Given the description of an element on the screen output the (x, y) to click on. 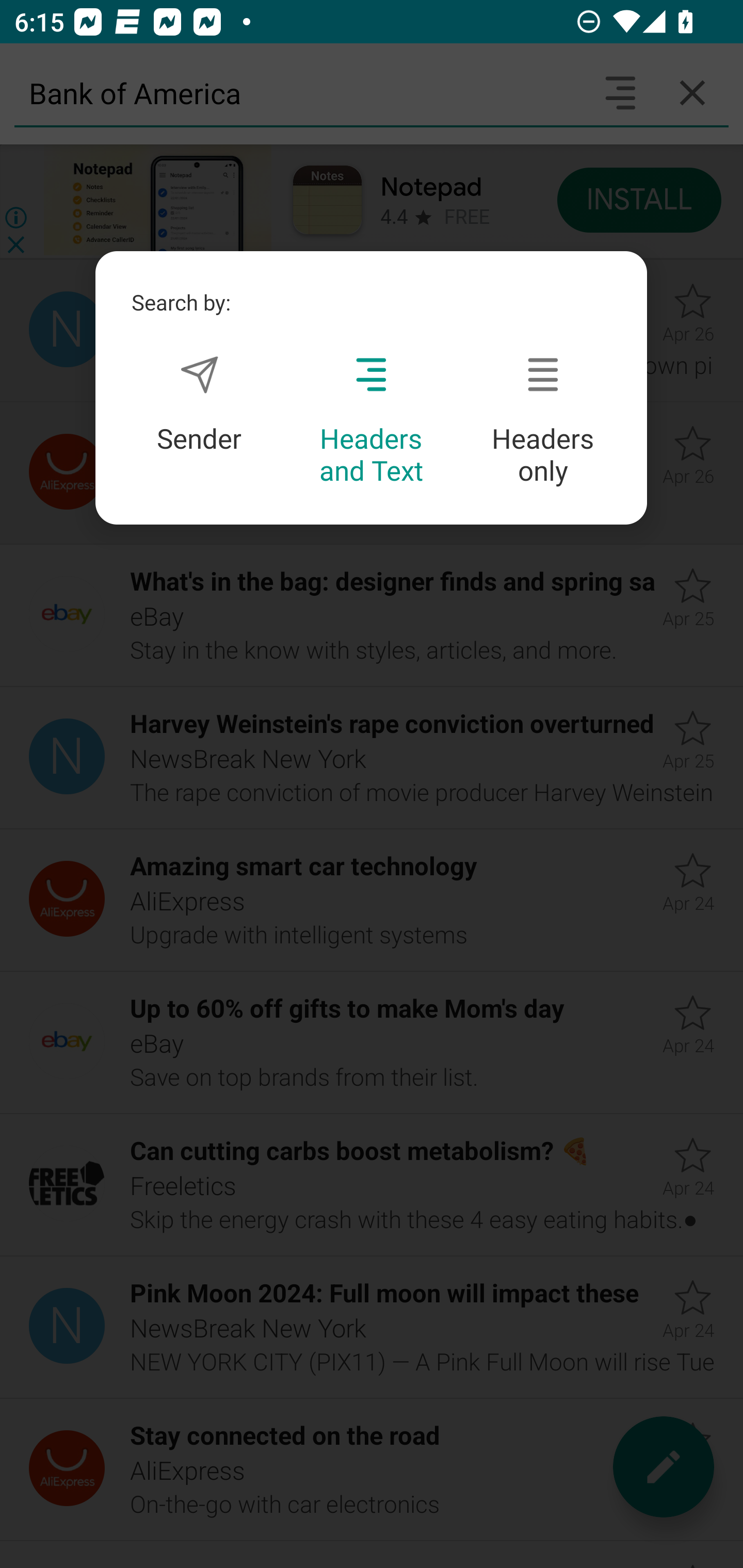
Sender (199, 404)
Headers and Text (371, 420)
Headers only (542, 420)
